Given the description of an element on the screen output the (x, y) to click on. 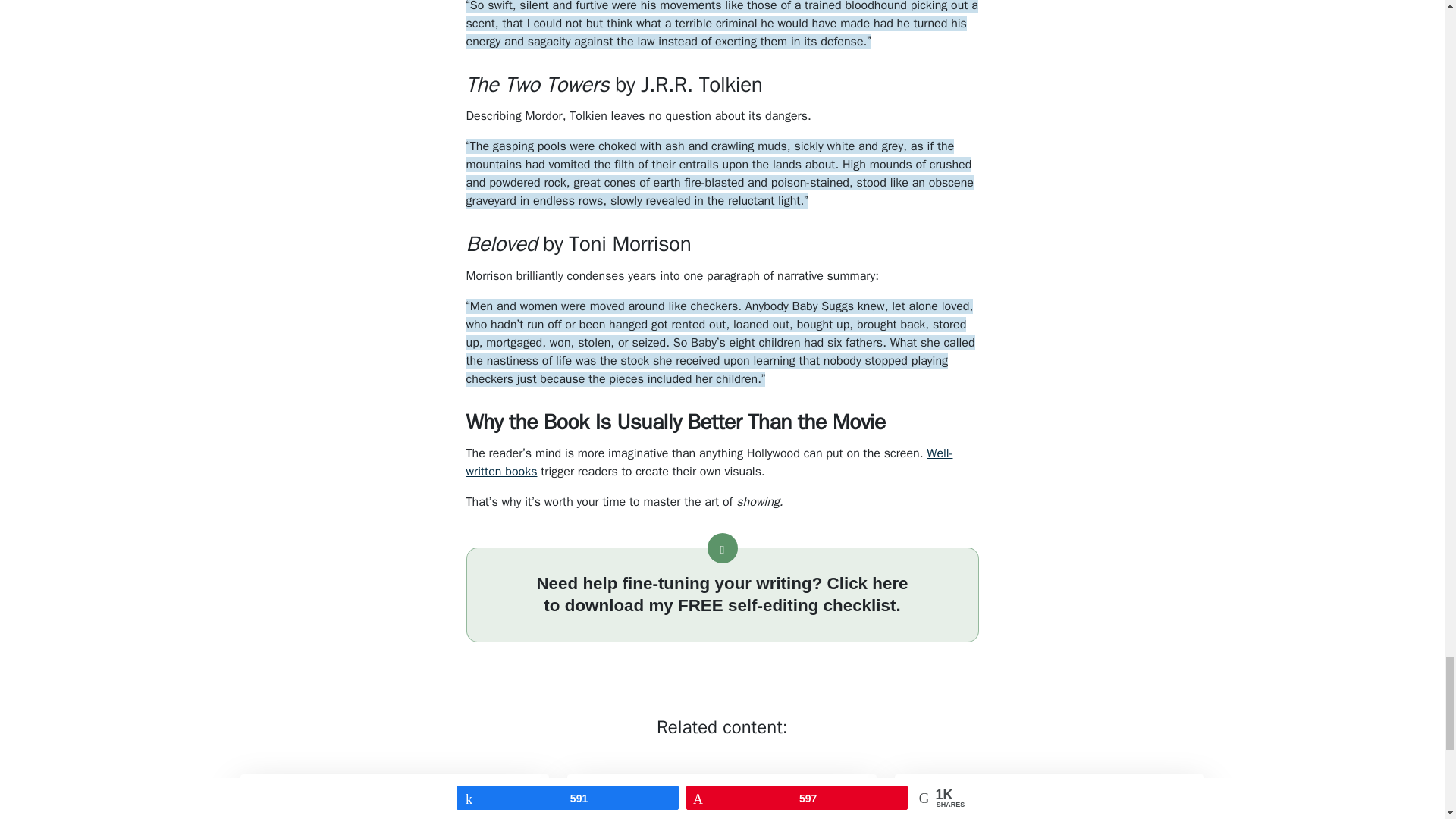
Well-written books (708, 462)
